Given the description of an element on the screen output the (x, y) to click on. 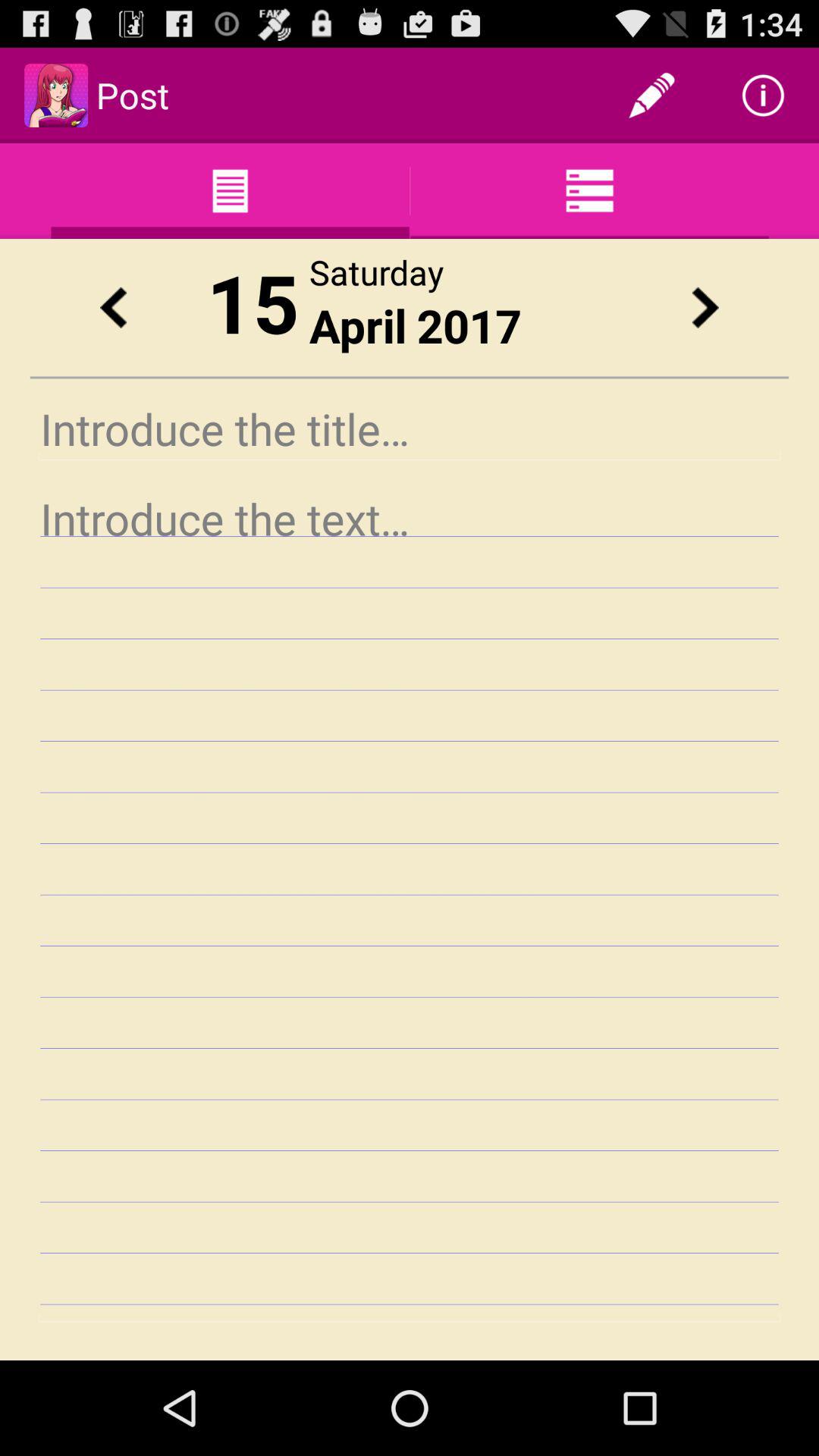
open the icon at the center (409, 904)
